Given the description of an element on the screen output the (x, y) to click on. 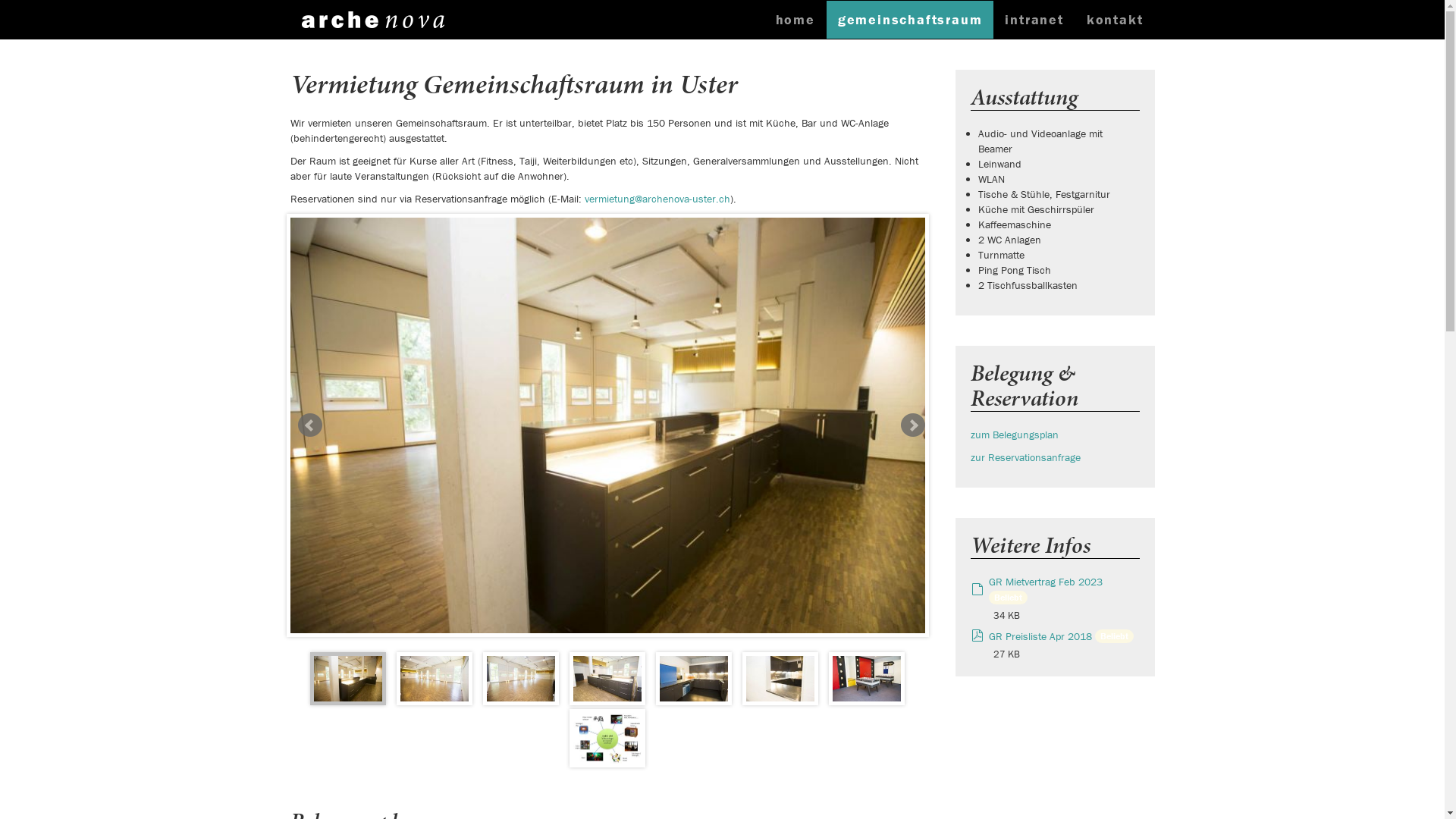
default Element type: text (977, 589)
zum Belegungsplan Element type: text (1014, 434)
GR Mietvertrag Feb 2023 Element type: text (1045, 581)
zur Reservationsanfrage Element type: text (1025, 457)
Siedlung Arche Nova Uster Element type: hover (372, 19)
Next Element type: text (912, 425)
kontakt Element type: text (1114, 19)
intranet Element type: text (1033, 19)
home Element type: text (795, 19)
Prev Element type: text (309, 425)
gemeinschaftsraum Element type: text (910, 19)
vermietung@archenova-uster.ch Element type: text (656, 198)
GR Preisliste Apr 2018 Element type: text (1040, 636)
pdf Element type: text (977, 636)
